Given the description of an element on the screen output the (x, y) to click on. 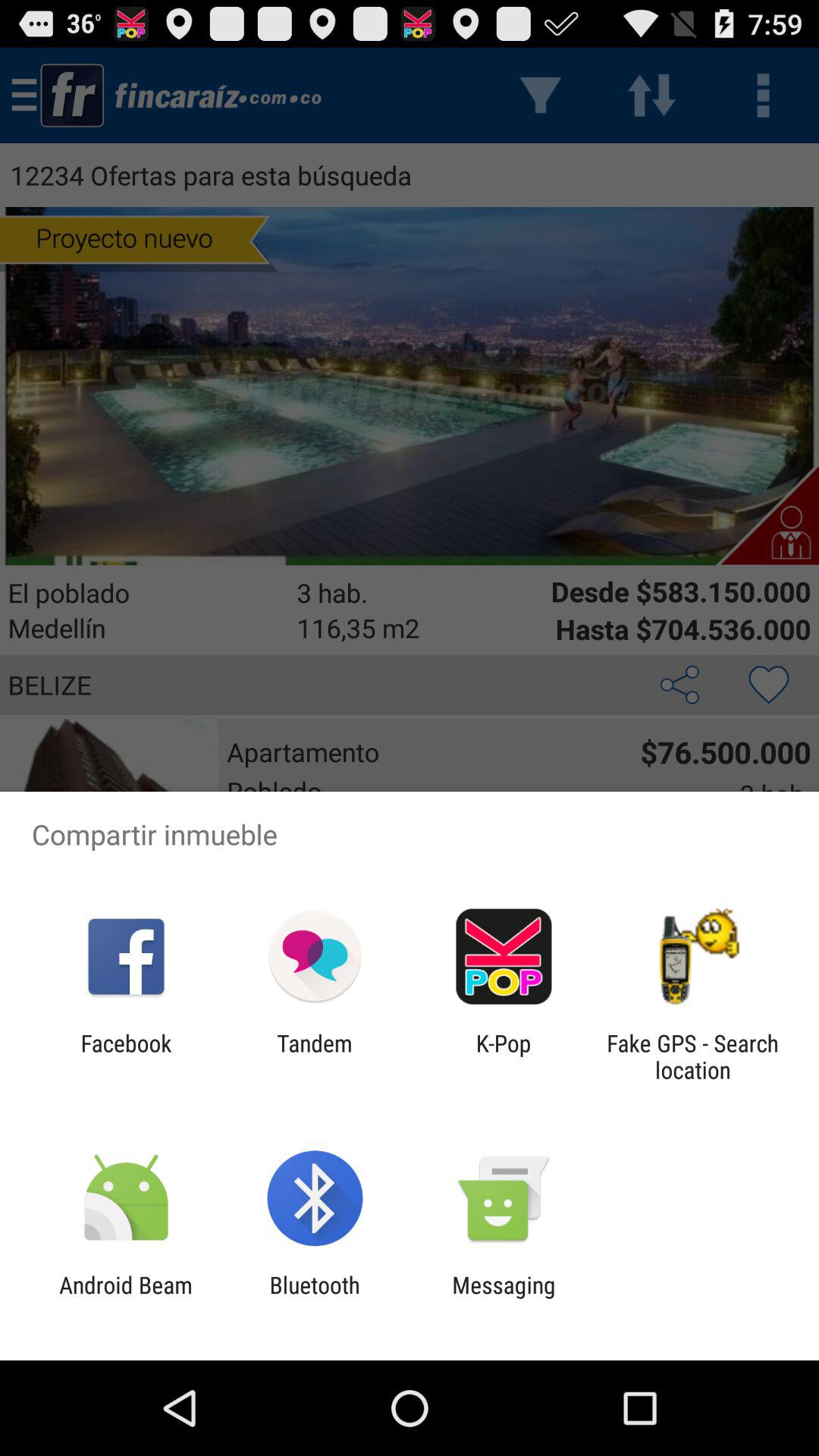
tap facebook app (125, 1056)
